Given the description of an element on the screen output the (x, y) to click on. 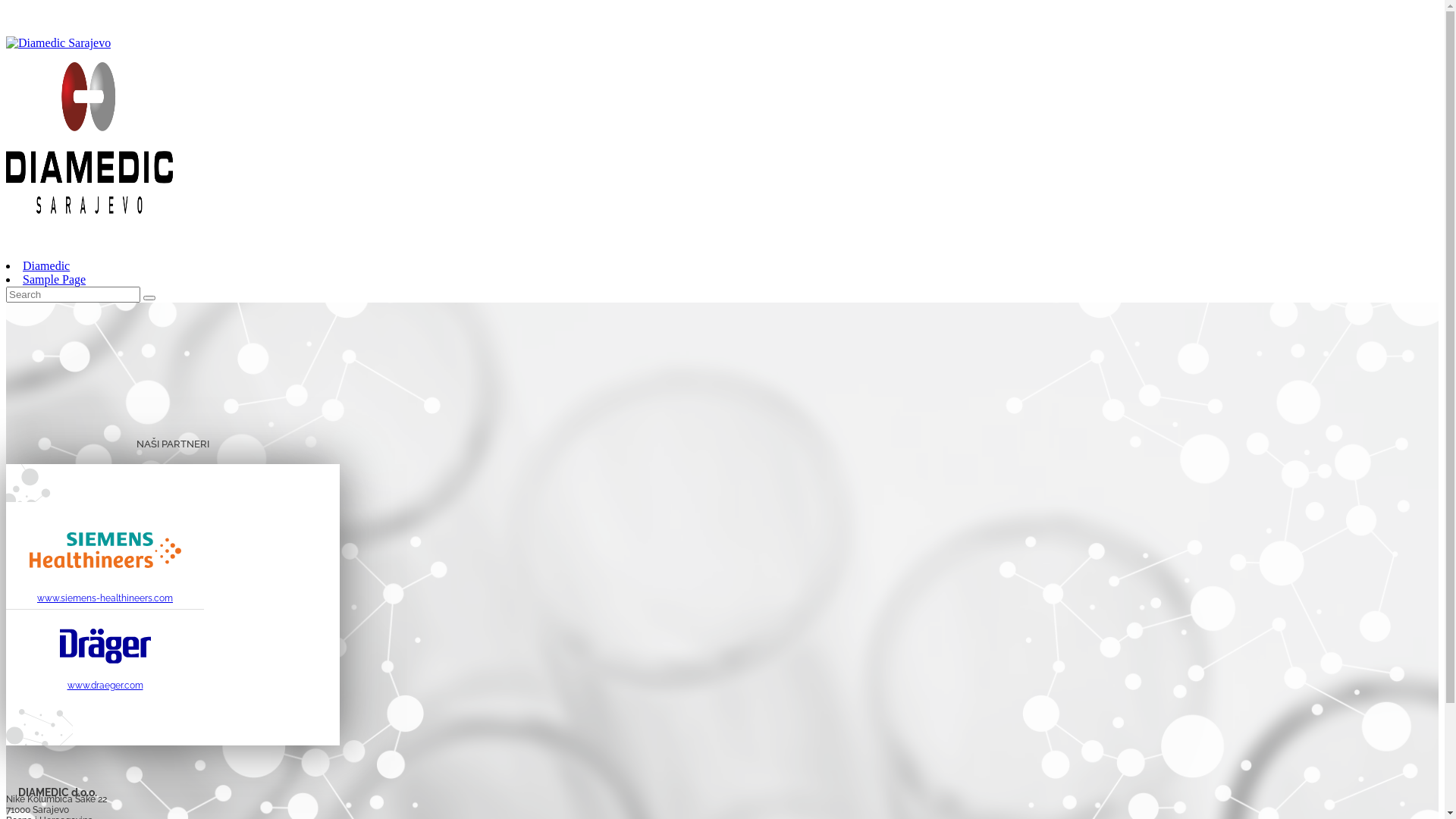
Skip to content Element type: text (5, 5)
Diamedic Element type: text (45, 265)
www.siemens-healthineers.com Element type: text (104, 598)
www.draeger.com Element type: text (105, 685)
Sample Page Element type: text (53, 279)
